Given the description of an element on the screen output the (x, y) to click on. 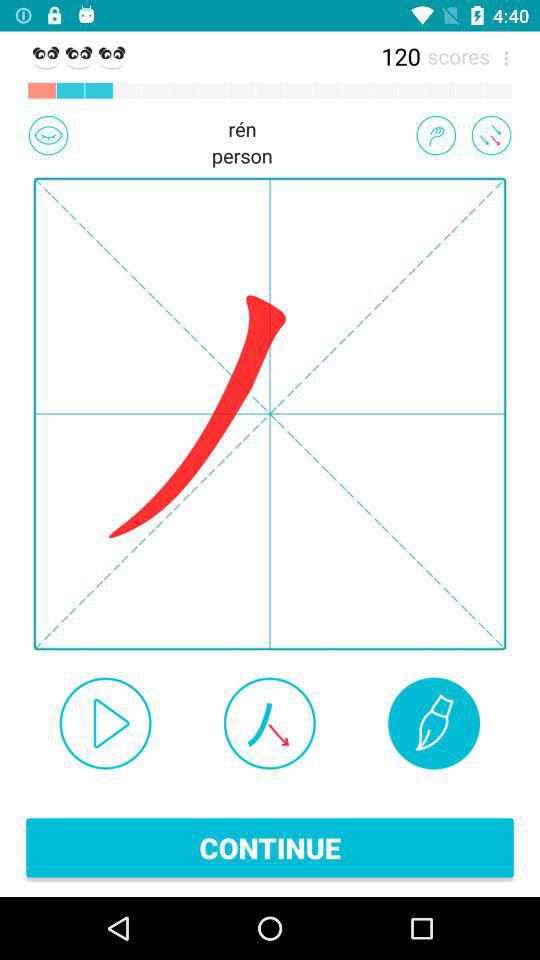
flip to continue icon (269, 847)
